Given the description of an element on the screen output the (x, y) to click on. 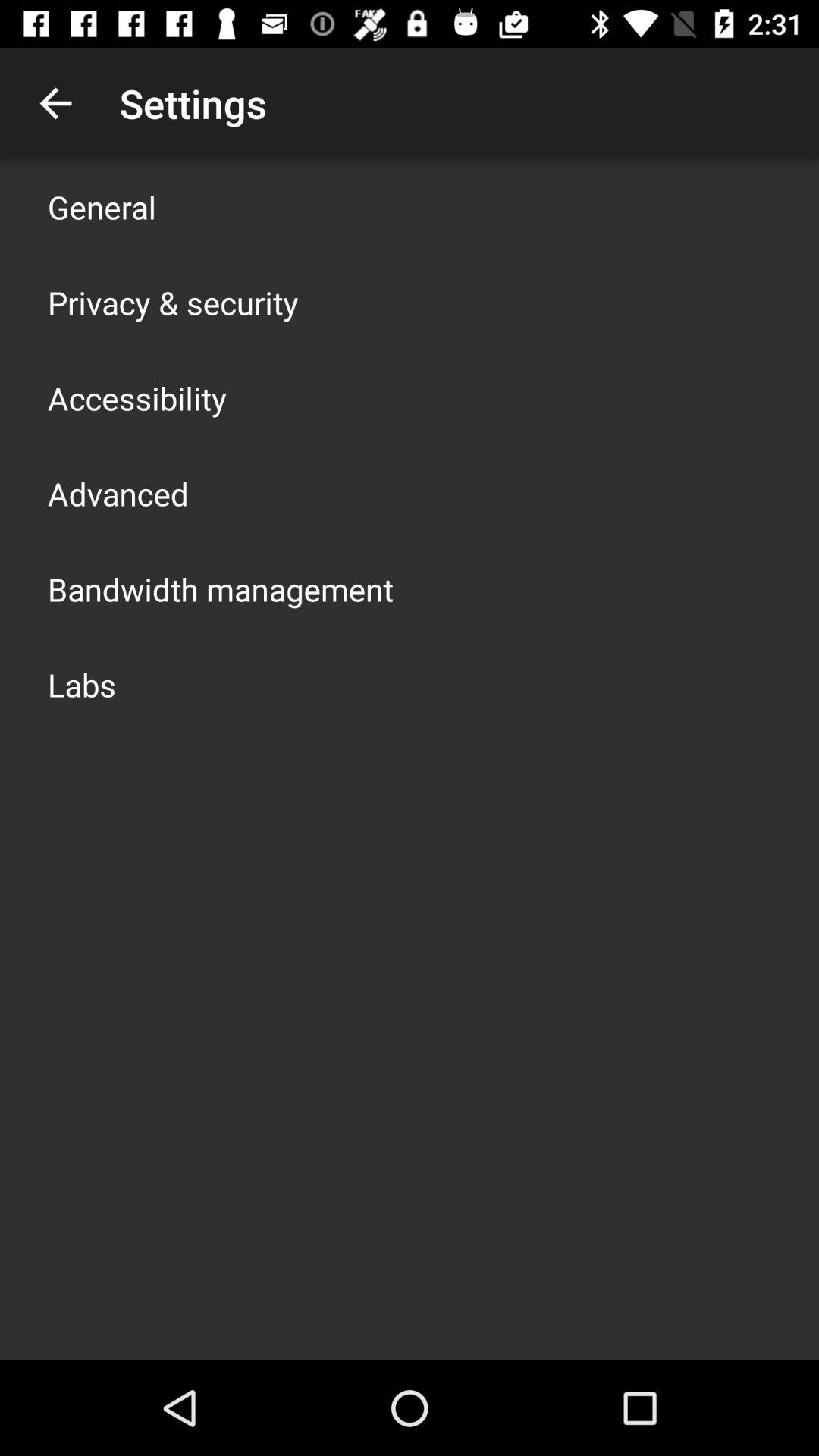
select the item above accessibility app (172, 302)
